Given the description of an element on the screen output the (x, y) to click on. 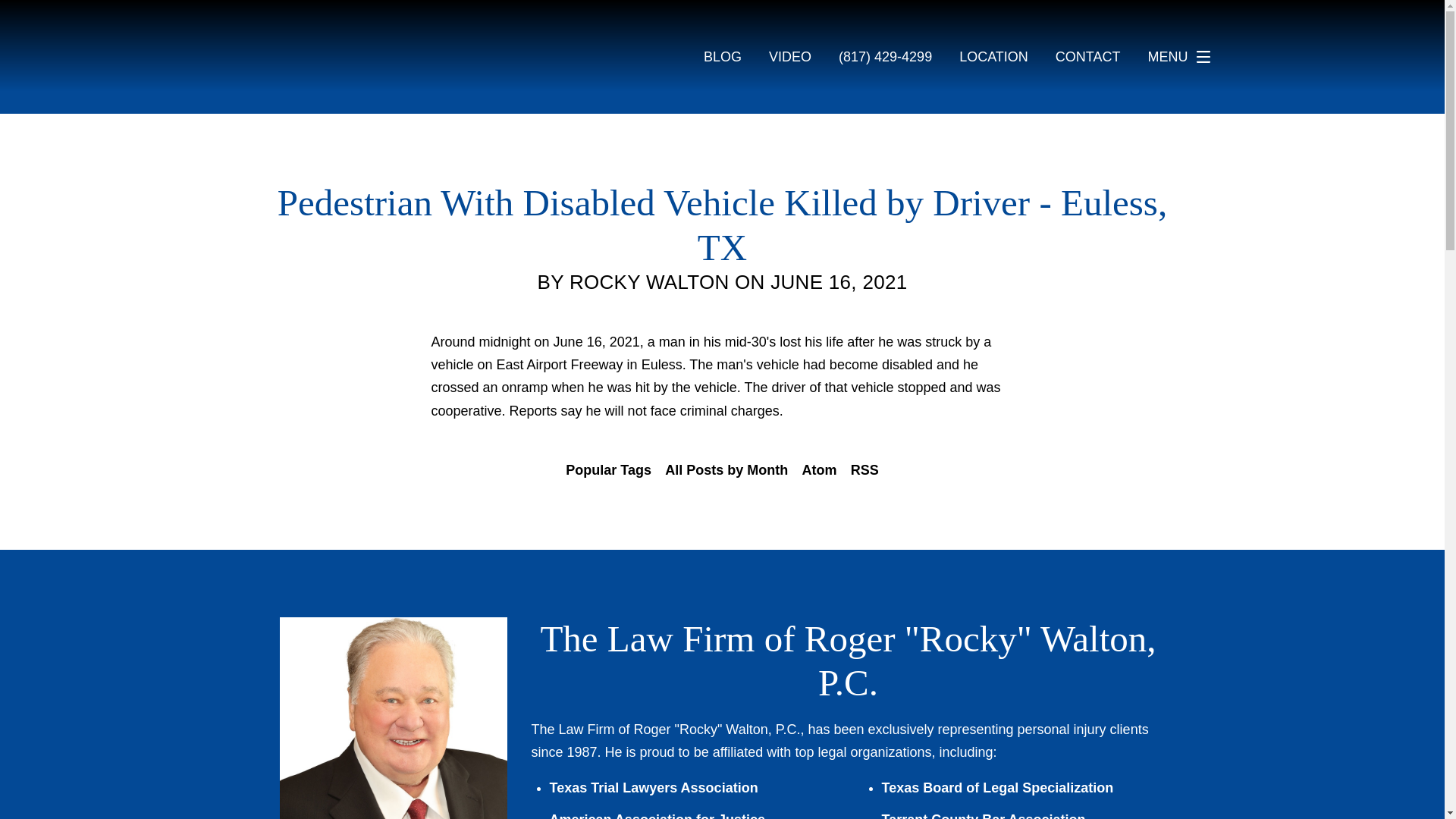
Popular Tags (608, 470)
All Posts by Month (726, 470)
RSS (864, 470)
Atom (818, 470)
